Given the description of an element on the screen output the (x, y) to click on. 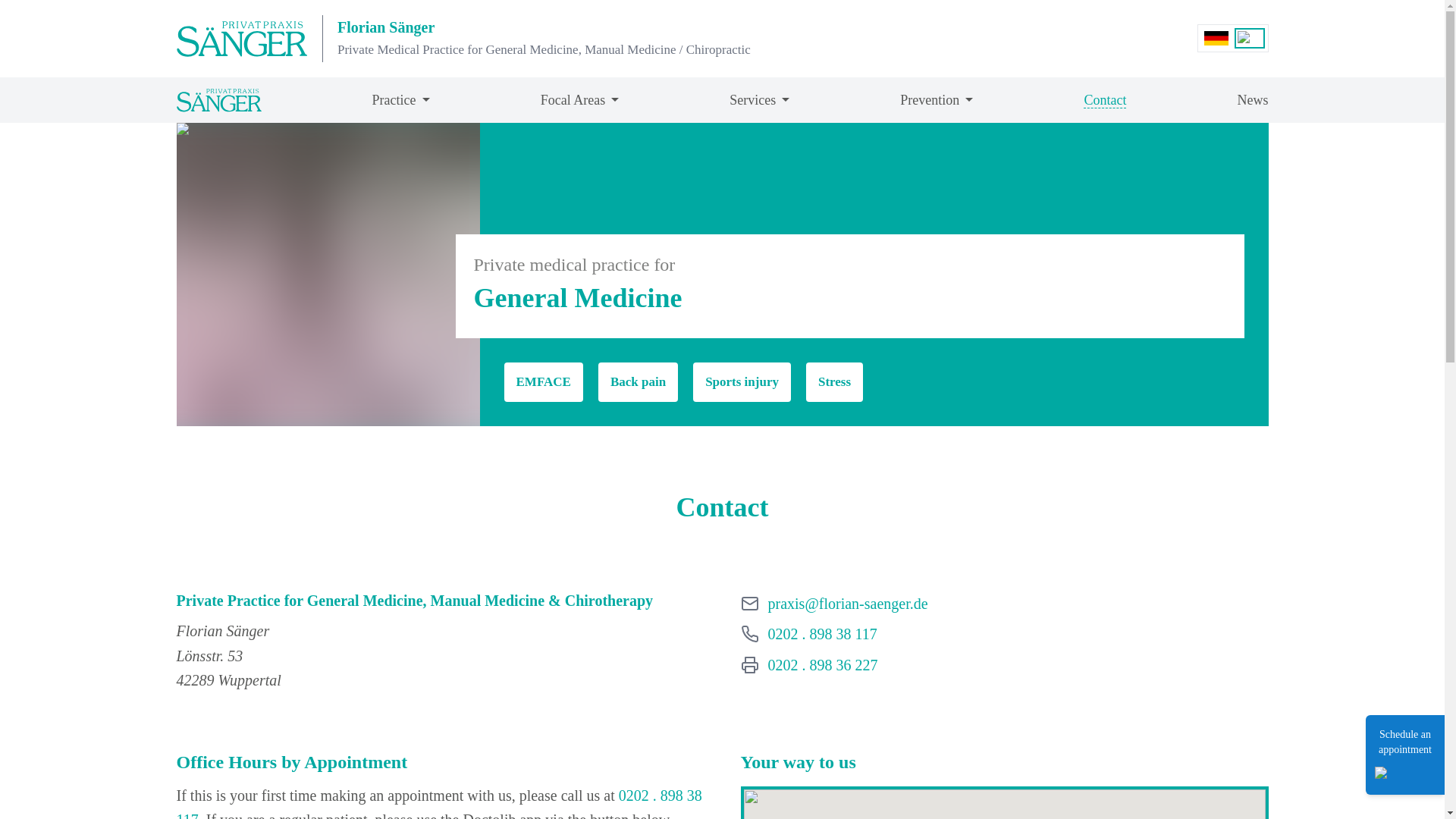
Services (759, 99)
News (1253, 99)
de (1216, 37)
EMFACE (542, 382)
Focal Areas (579, 99)
English (821, 634)
Home page (1249, 37)
Contact (241, 38)
Stress (1104, 99)
Sports injury (834, 382)
0202 . 898 38 117 (741, 382)
en (438, 803)
Prevention (1249, 37)
